Given the description of an element on the screen output the (x, y) to click on. 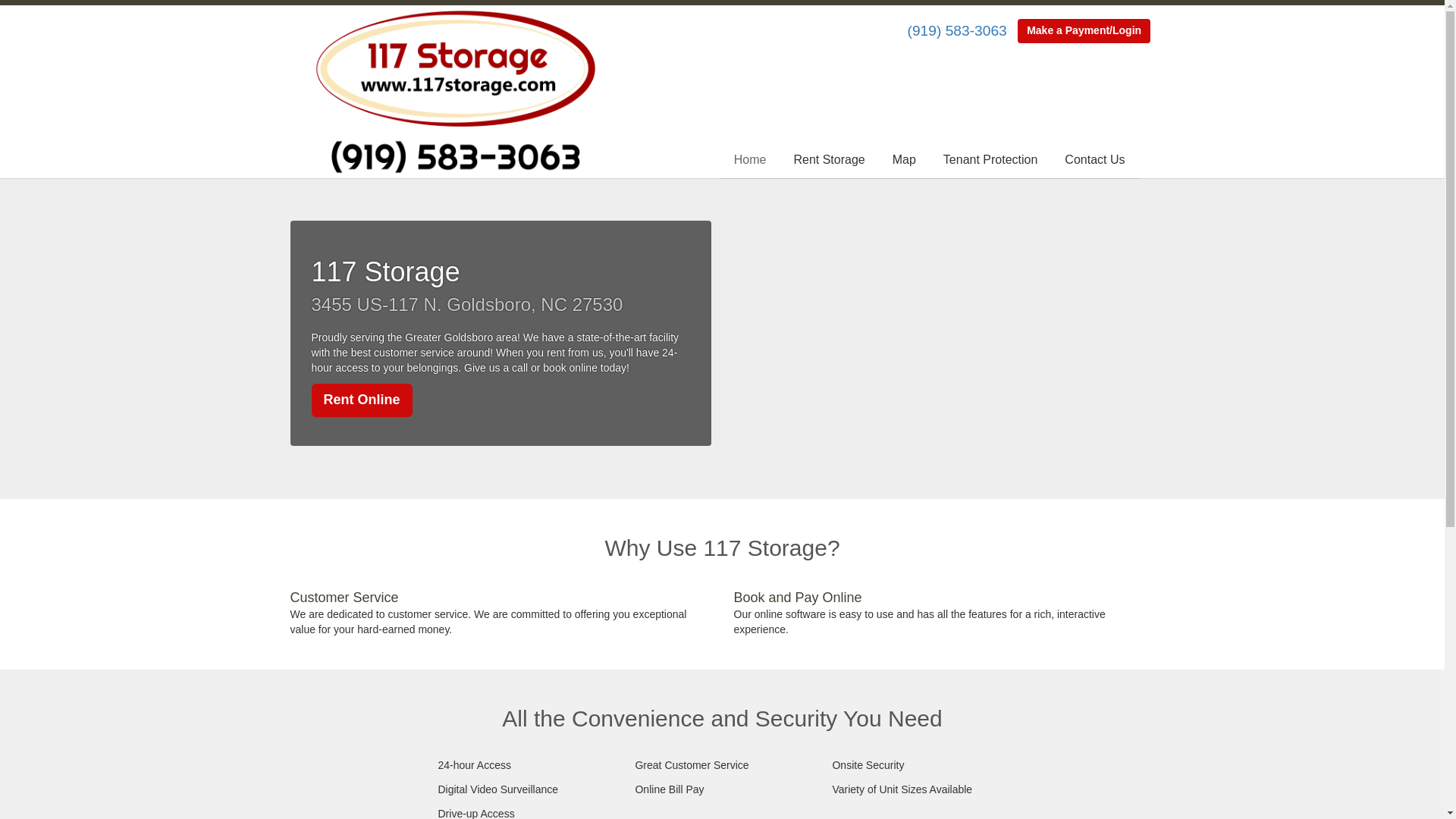
Tenant Protection Element type: text (990, 160)
Home Element type: text (750, 160)
Make a Payment/Login Element type: text (1083, 30)
Contact Us Element type: text (1094, 160)
Map Element type: text (903, 160)
Rent Online Element type: text (360, 400)
Rent Storage Element type: text (828, 160)
(919) 583-3063 Element type: text (957, 30)
